Given the description of an element on the screen output the (x, y) to click on. 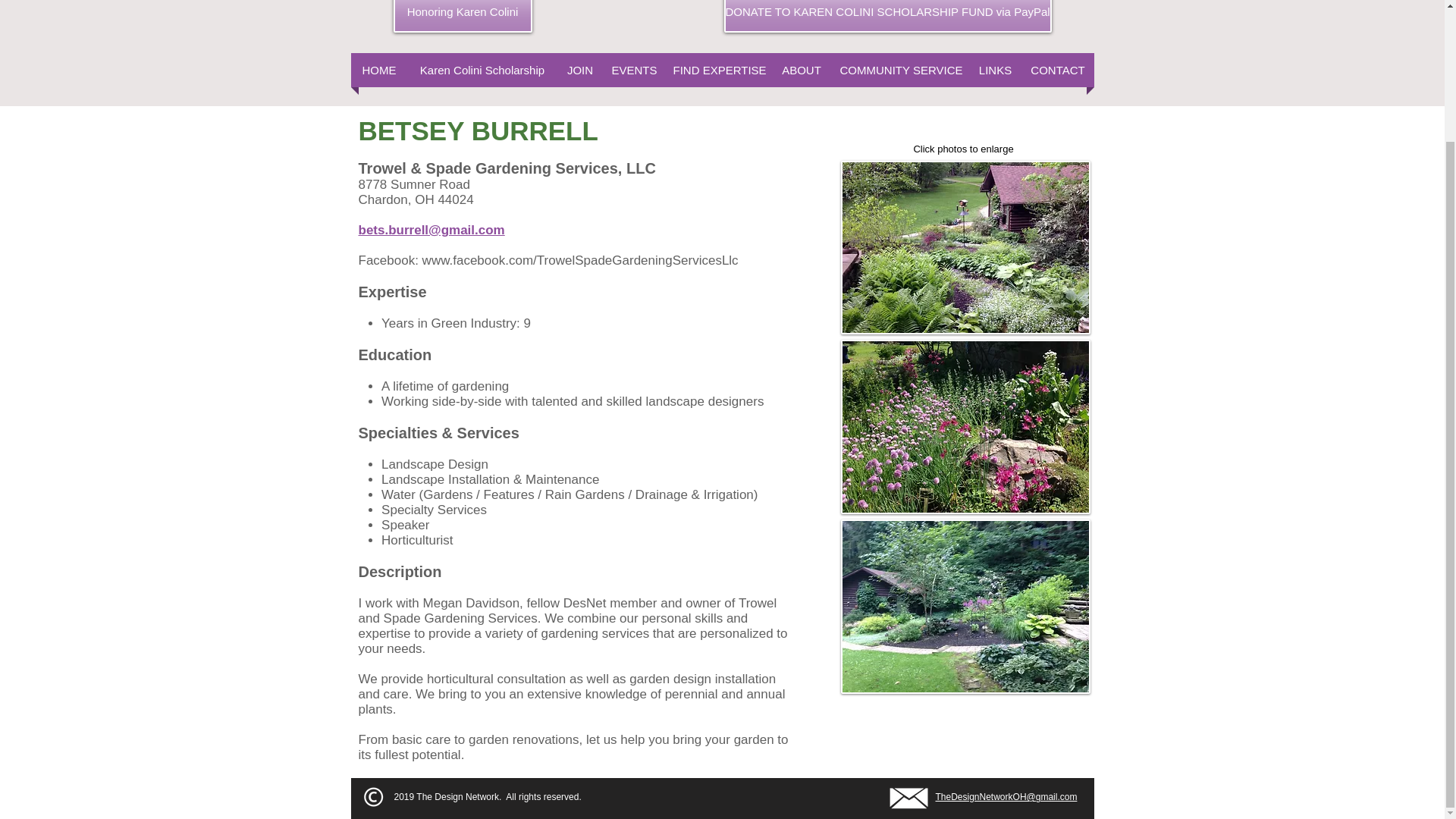
LINKS (995, 69)
Karen Colini Scholarship (482, 69)
JOIN (579, 69)
FIND EXPERTISE (718, 69)
ABOUT (800, 69)
Honoring Karen Colini (462, 16)
EVENTS (634, 69)
CONTACT (1058, 69)
COMMUNITY SERVICE (900, 69)
HOME (378, 69)
DONATE TO KAREN COLINI SCHOLARSHIP FUND via PayPal (887, 16)
